Given the description of an element on the screen output the (x, y) to click on. 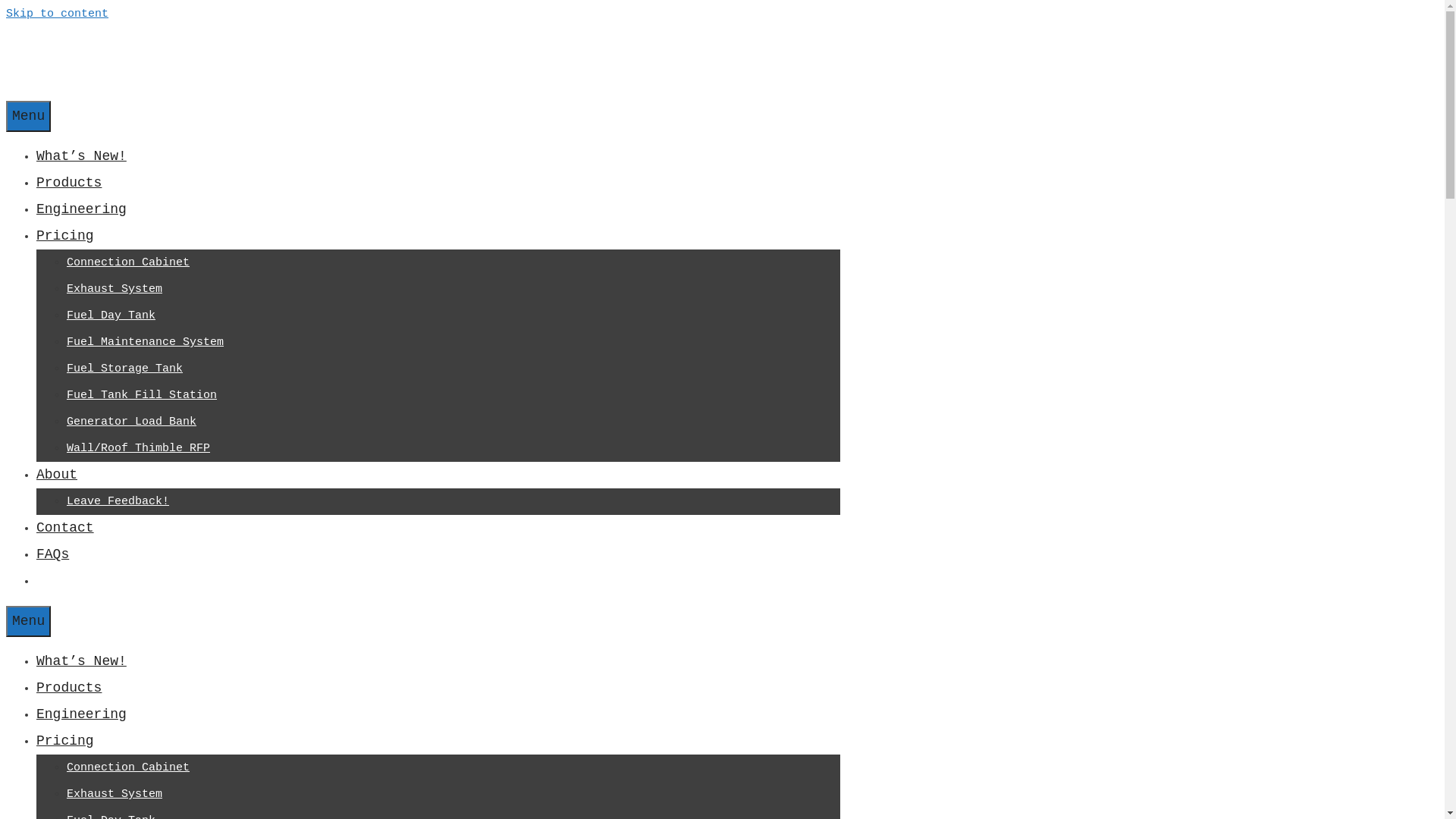
Products Element type: text (68, 687)
Generator Load Bank Element type: text (131, 421)
Pricing Element type: text (65, 235)
Exhaust System Element type: text (114, 288)
Menu Element type: text (28, 115)
FAQs Element type: text (52, 553)
Engineering Element type: text (81, 208)
Connection Cabinet Element type: text (127, 262)
Leave Feedback! Element type: text (117, 501)
Fuel Tank Fill Station Element type: text (141, 395)
Skip to content Element type: text (57, 13)
Fuel Storage Tank Element type: text (124, 368)
Exhaust System Element type: text (114, 793)
Pricing Element type: text (65, 740)
Contact Element type: text (65, 527)
Fuel Day Tank Element type: text (110, 315)
Specified.Works Element type: hover (19, 90)
Fuel Maintenance System Element type: text (144, 341)
Products Element type: text (68, 182)
Connection Cabinet Element type: text (127, 767)
Menu Element type: text (28, 621)
Engineering Element type: text (81, 713)
Wall/Roof Thimble RFP Element type: text (138, 448)
About Element type: text (56, 474)
